Given the description of an element on the screen output the (x, y) to click on. 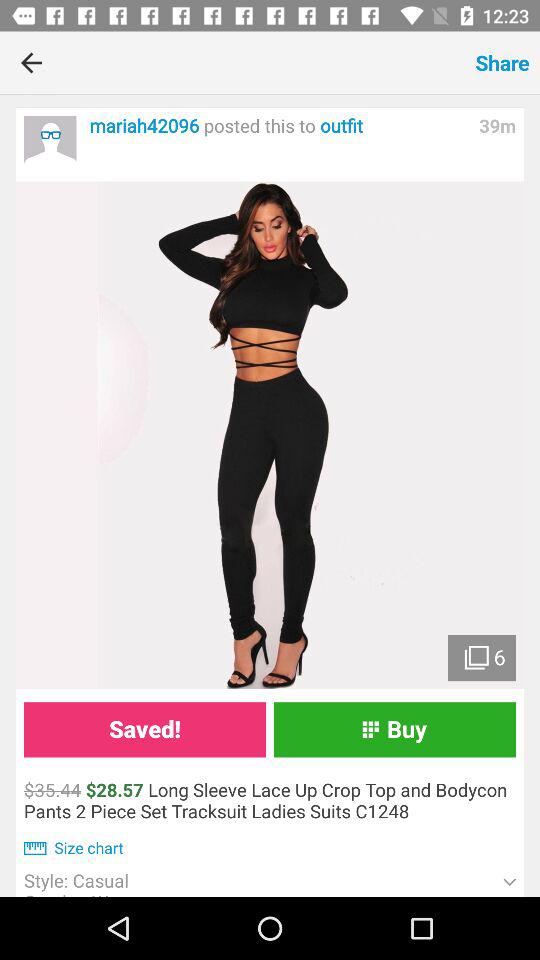
view poster profile (50, 141)
